Given the description of an element on the screen output the (x, y) to click on. 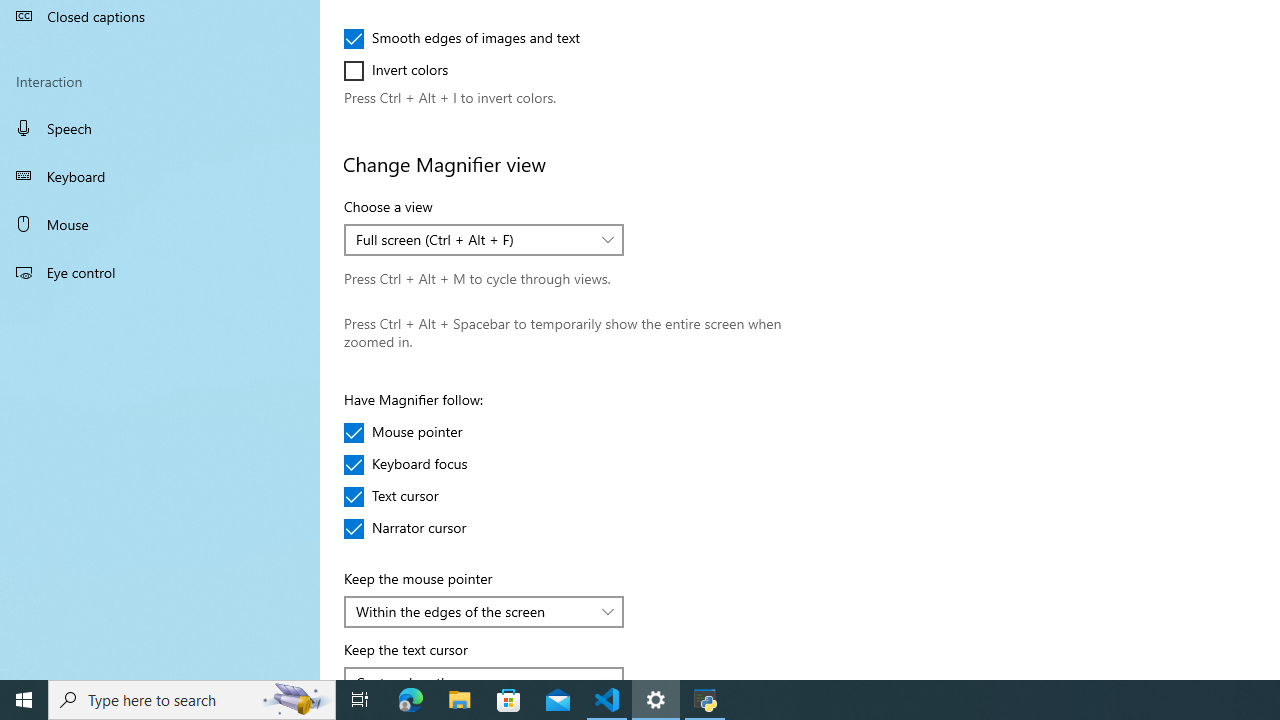
Eye control (160, 271)
Settings - 1 running window (656, 699)
Full screen (Ctrl + Alt + F) (473, 239)
Mouse (160, 223)
Invert colors (403, 70)
Smooth edges of images and text (462, 38)
Keyboard focus (406, 464)
Narrator cursor (405, 528)
Text cursor (403, 496)
